Given the description of an element on the screen output the (x, y) to click on. 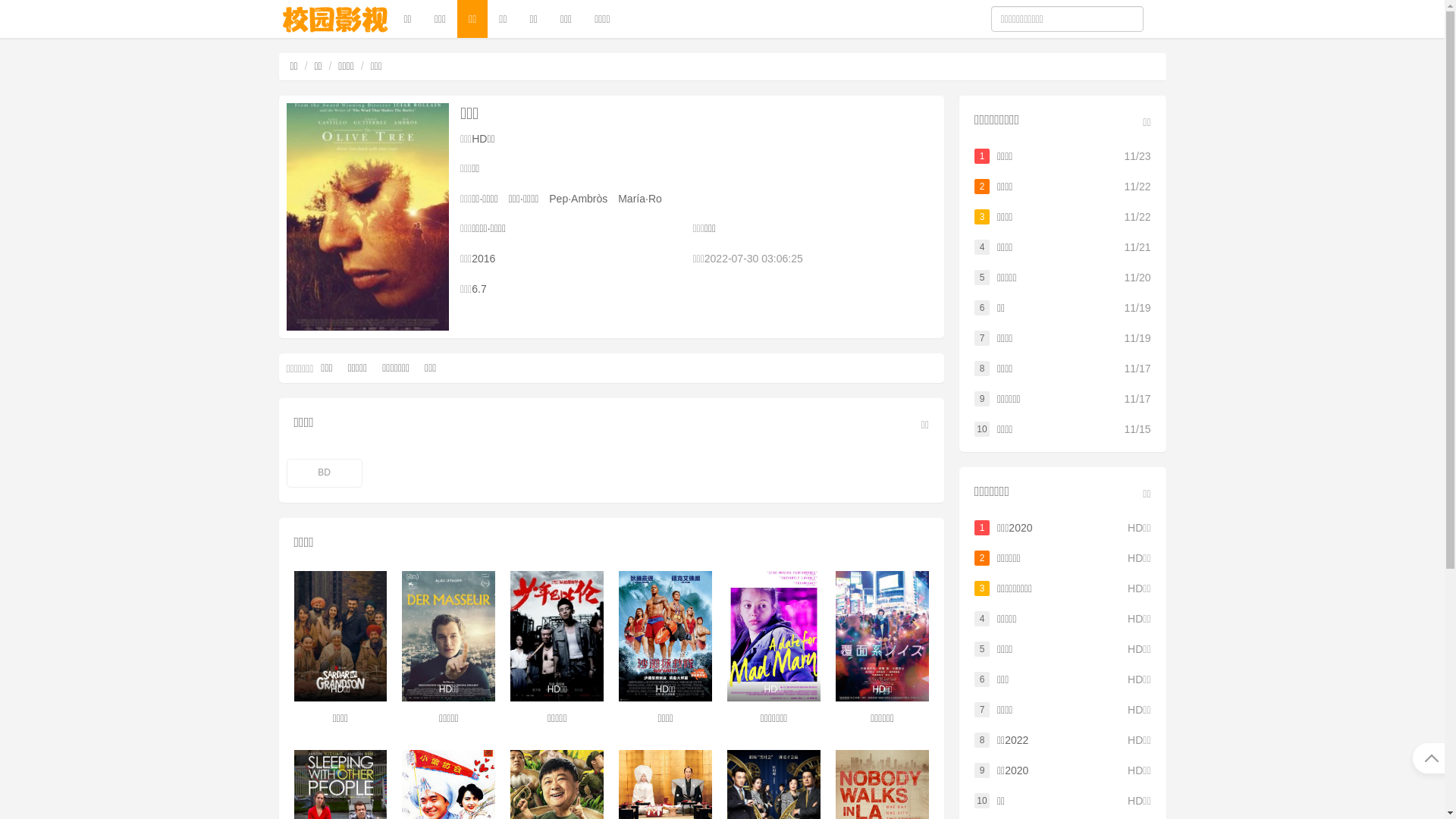
6.7 Element type: text (478, 288)
BD Element type: text (324, 472)
